Given the description of an element on the screen output the (x, y) to click on. 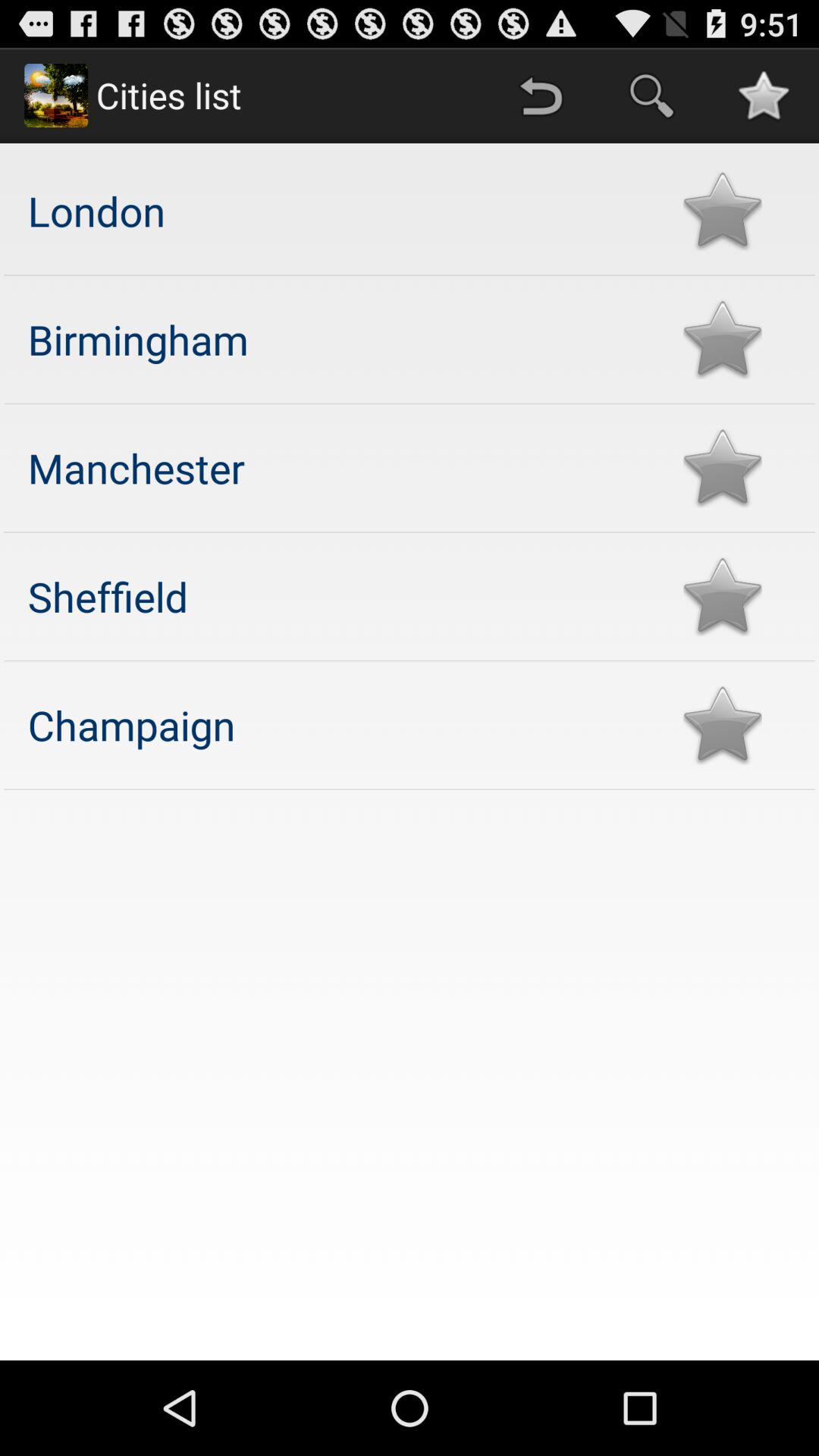
rating/like (722, 210)
